Given the description of an element on the screen output the (x, y) to click on. 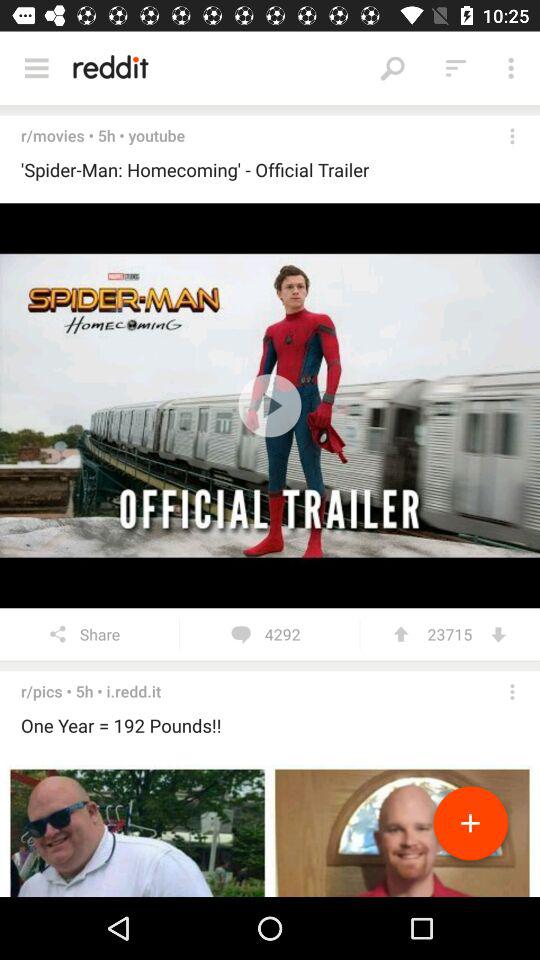
advertisement banner (270, 828)
